Given the description of an element on the screen output the (x, y) to click on. 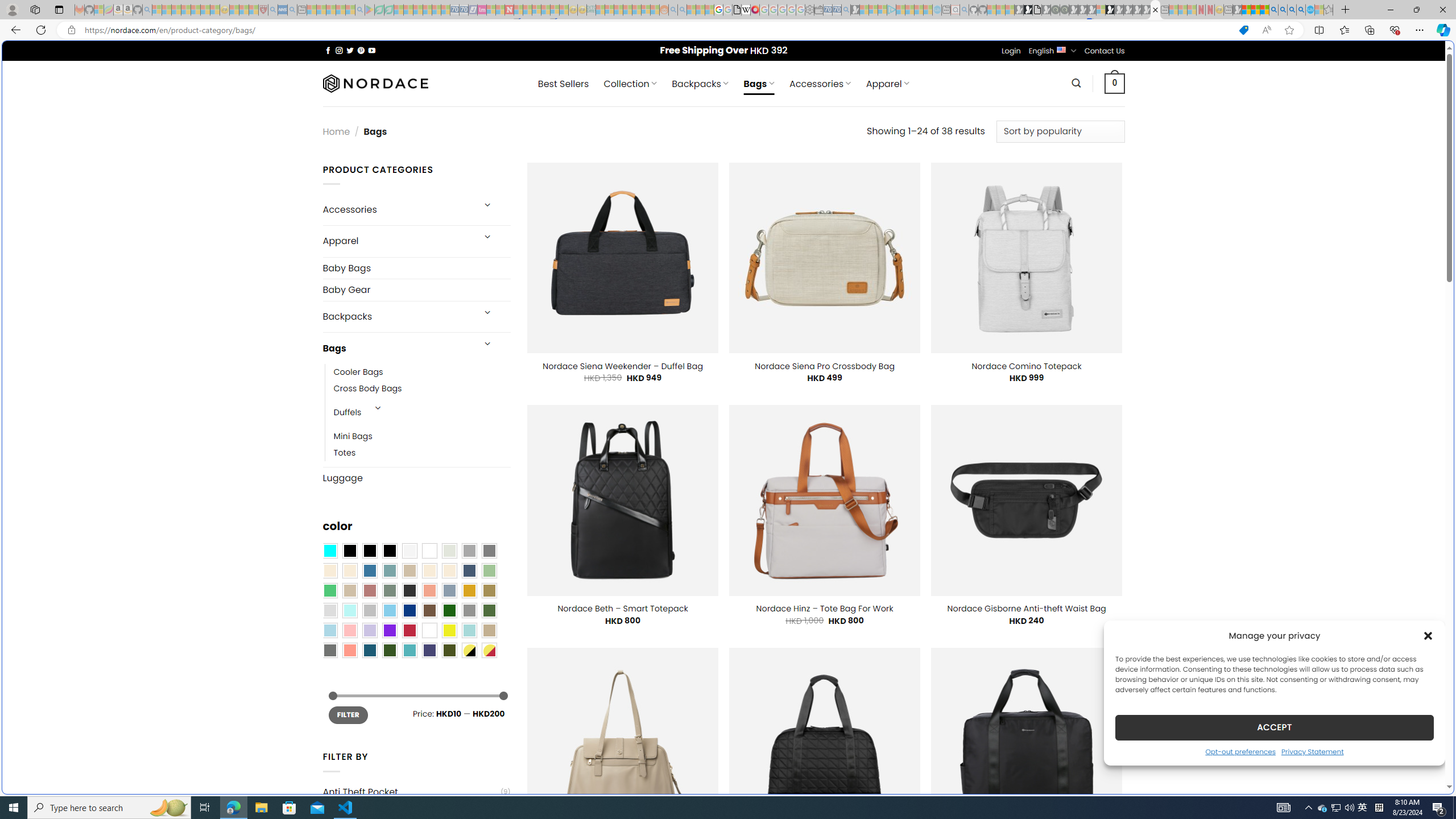
Dark Green (449, 610)
Follow on YouTube (371, 49)
Login (1010, 50)
Purple (389, 630)
ACCEPT (1274, 727)
Nordace - Bags (1154, 9)
